Given the description of an element on the screen output the (x, y) to click on. 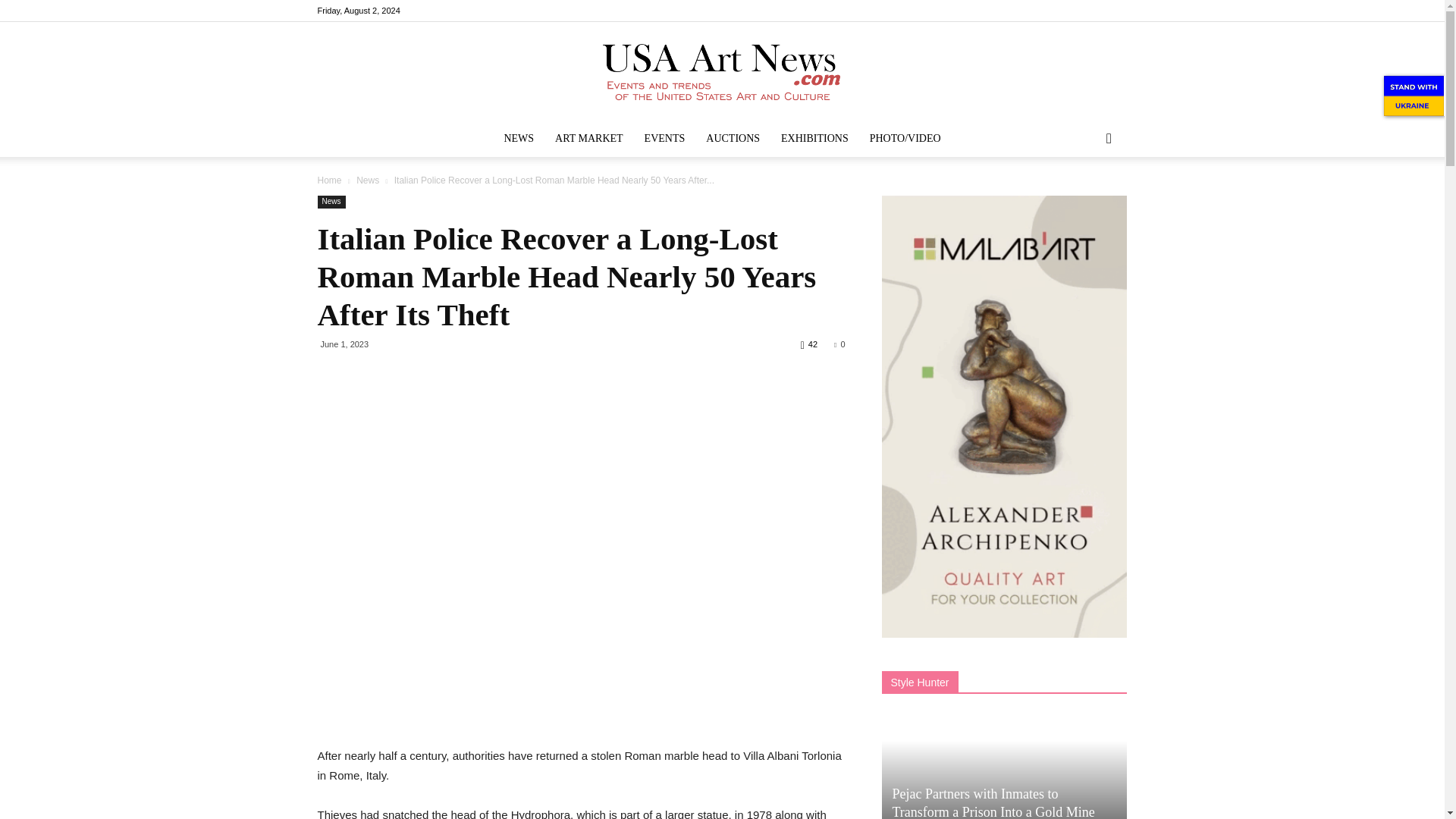
RSS (1090, 10)
ART MARKET (588, 138)
NEWS (518, 138)
Facebook (1040, 10)
EVENTS (664, 138)
Instagram (1065, 10)
Twitter (1114, 10)
